Given the description of an element on the screen output the (x, y) to click on. 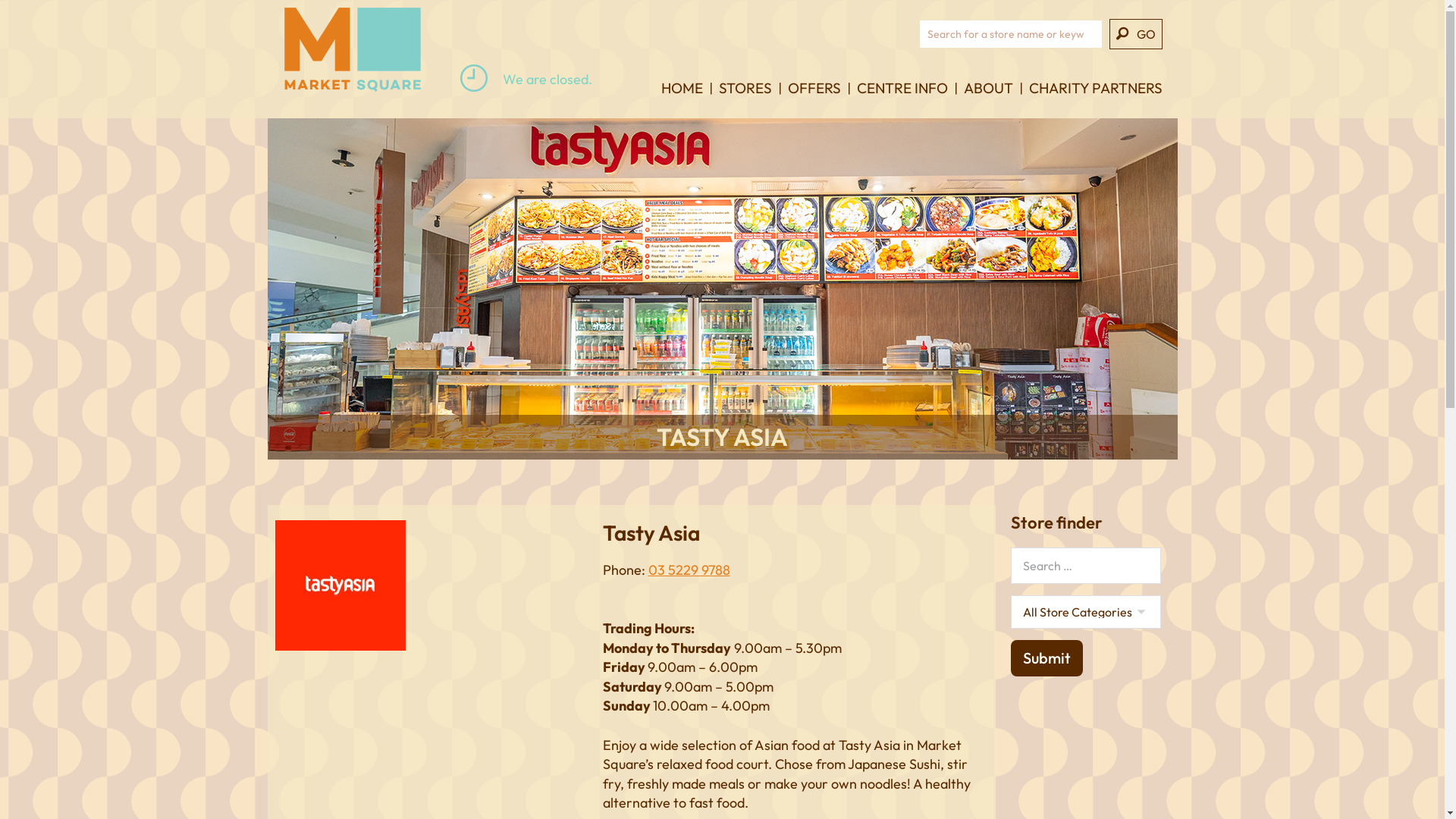
CHARITY PARTNERS Element type: text (1094, 99)
Submit Element type: text (1046, 658)
GO Element type: text (1134, 33)
HOME Element type: text (681, 99)
market-square-geelong-logo Element type: hover (351, 49)
CENTRE INFO Element type: text (902, 99)
Tasty Asia Element type: hover (339, 585)
STORES Element type: text (745, 99)
ABOUT Element type: text (987, 99)
03 5229 9788 Element type: text (688, 569)
OFFERS Element type: text (813, 99)
clock Element type: hover (473, 77)
